Given the description of an element on the screen output the (x, y) to click on. 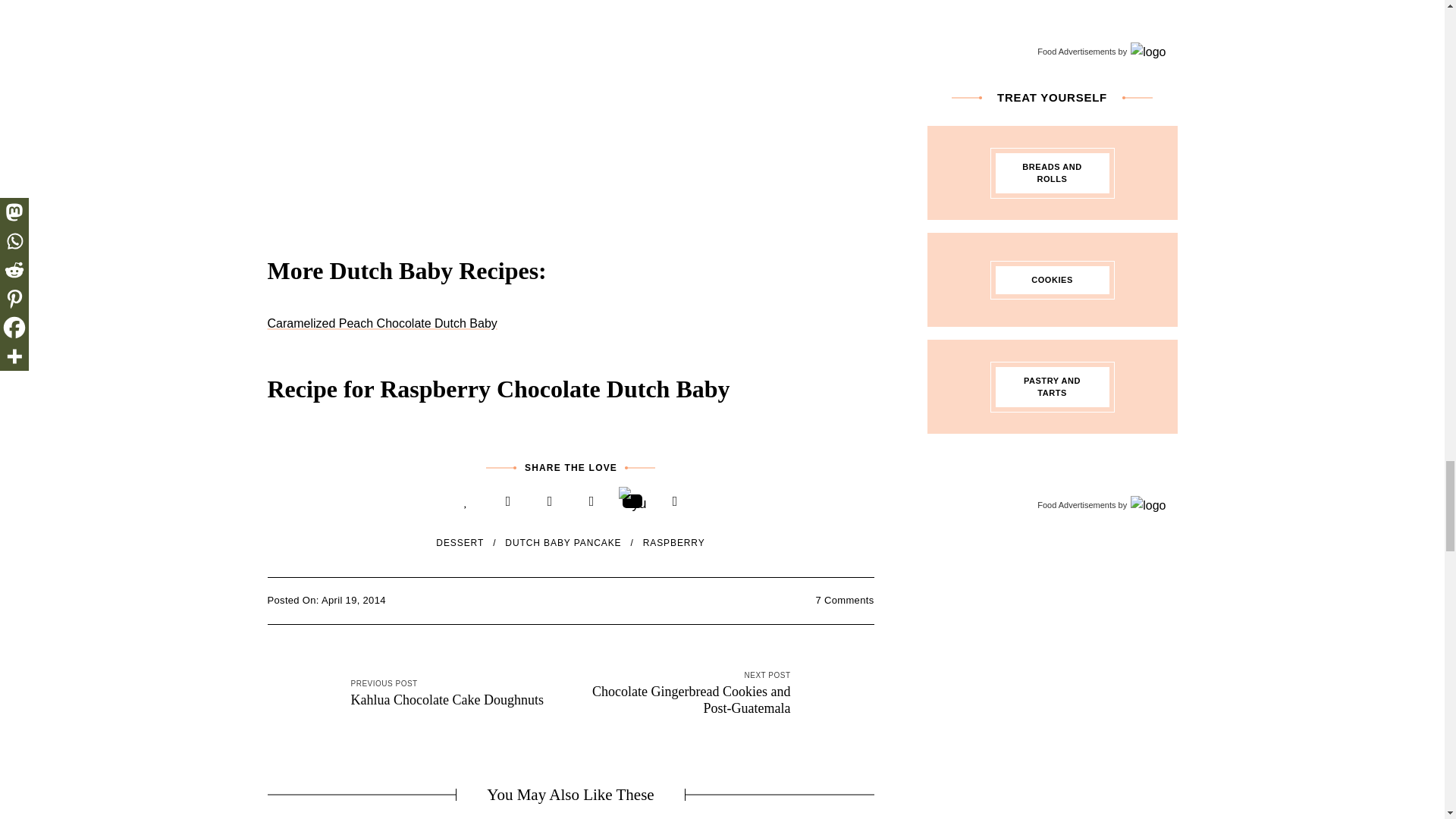
Yummly (632, 500)
Caramelized Peach Chocolate Dutch Baby (381, 323)
Facebook (508, 501)
Twitter (549, 501)
Like (465, 501)
Pinterest (591, 501)
